Given the description of an element on the screen output the (x, y) to click on. 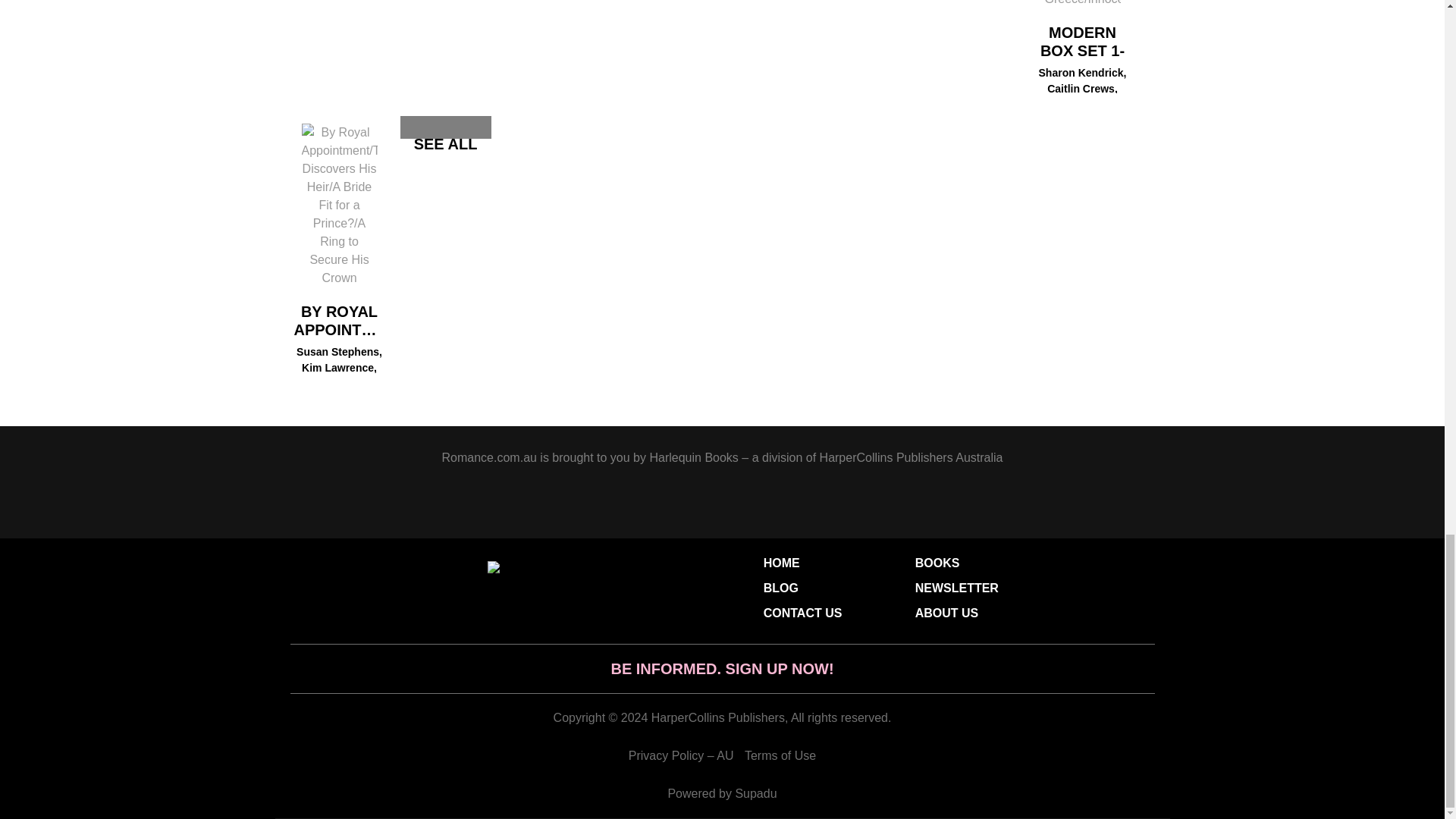
Supadu Website (755, 793)
